Given the description of an element on the screen output the (x, y) to click on. 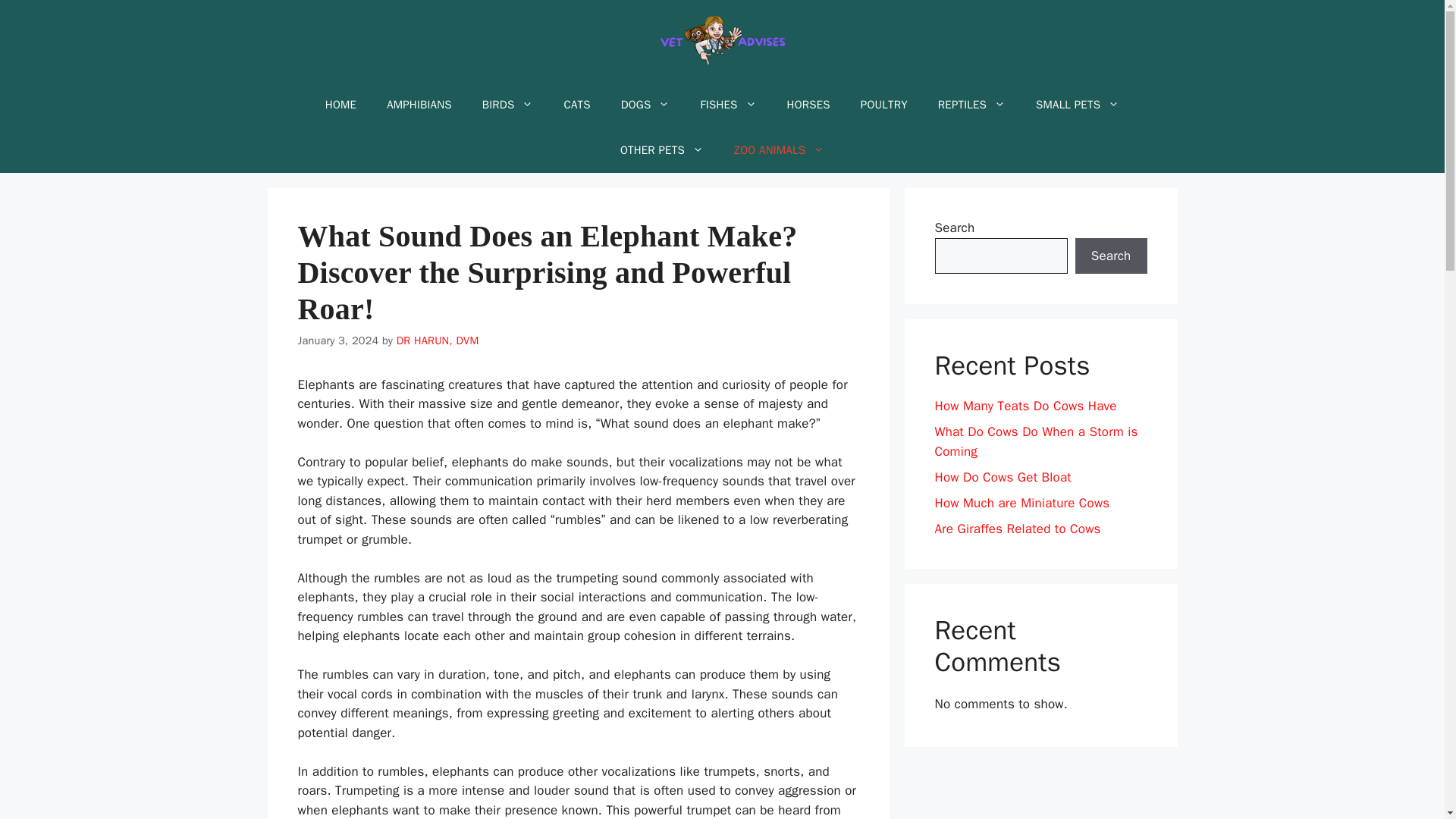
DOGS (645, 104)
ZOO ANIMALS (779, 149)
OTHER PETS (662, 149)
HORSES (808, 104)
REPTILES (971, 104)
FISHES (727, 104)
View all posts by DR HARUN, DVM (437, 340)
SMALL PETS (1077, 104)
POULTRY (884, 104)
DR HARUN, DVM (437, 340)
AMPHIBIANS (419, 104)
CATS (576, 104)
BIRDS (507, 104)
HOME (340, 104)
